Given the description of an element on the screen output the (x, y) to click on. 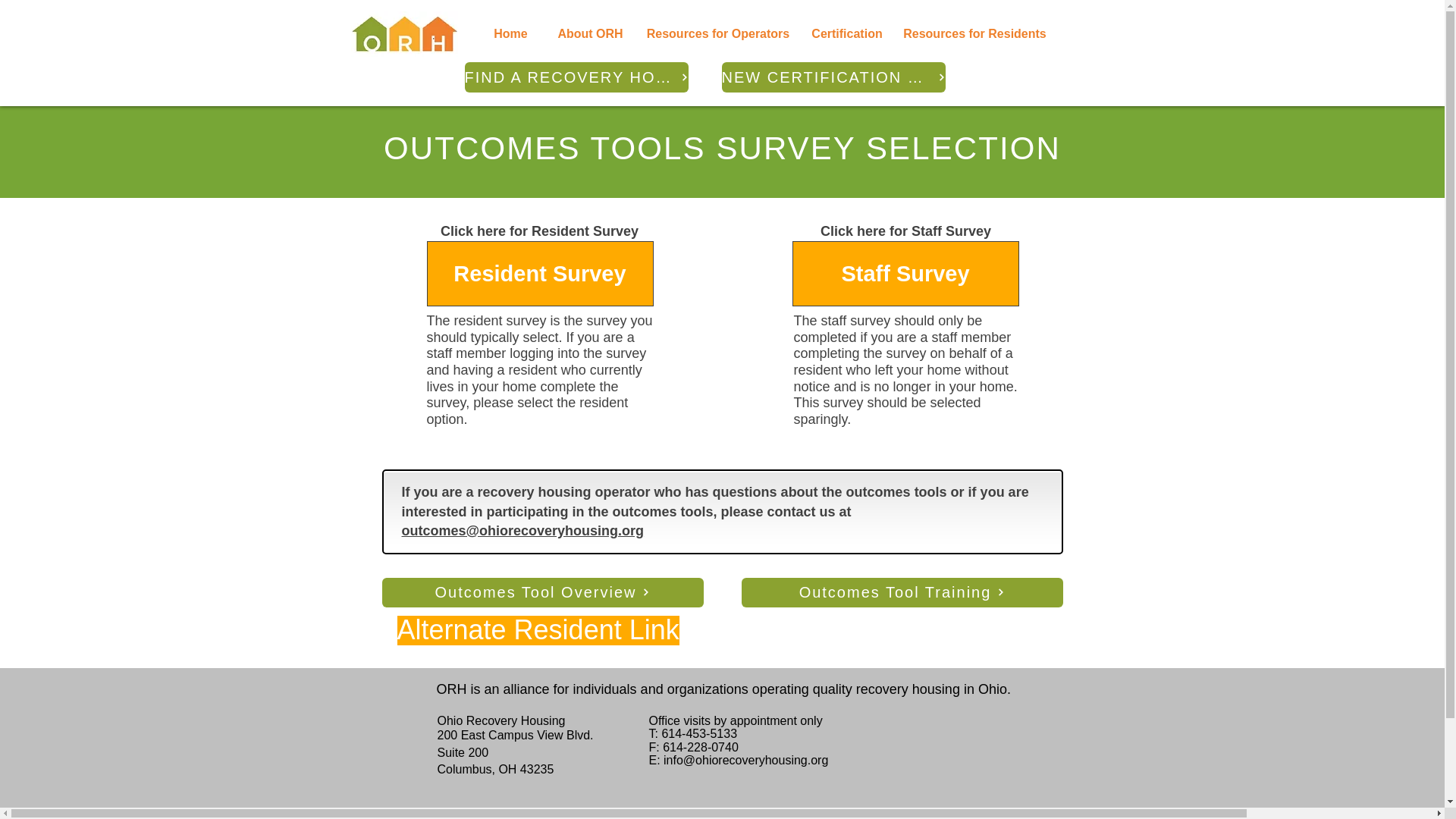
Home (510, 33)
Staff Survey (904, 273)
Outcomes Tool Overview (542, 592)
Resident Survey (539, 273)
FIND A RECOVERY HOME (575, 77)
Outcomes Tool Training (901, 592)
Alternate Resident Link (538, 630)
NEW CERTIFICATION MEASURES (833, 77)
